Given the description of an element on the screen output the (x, y) to click on. 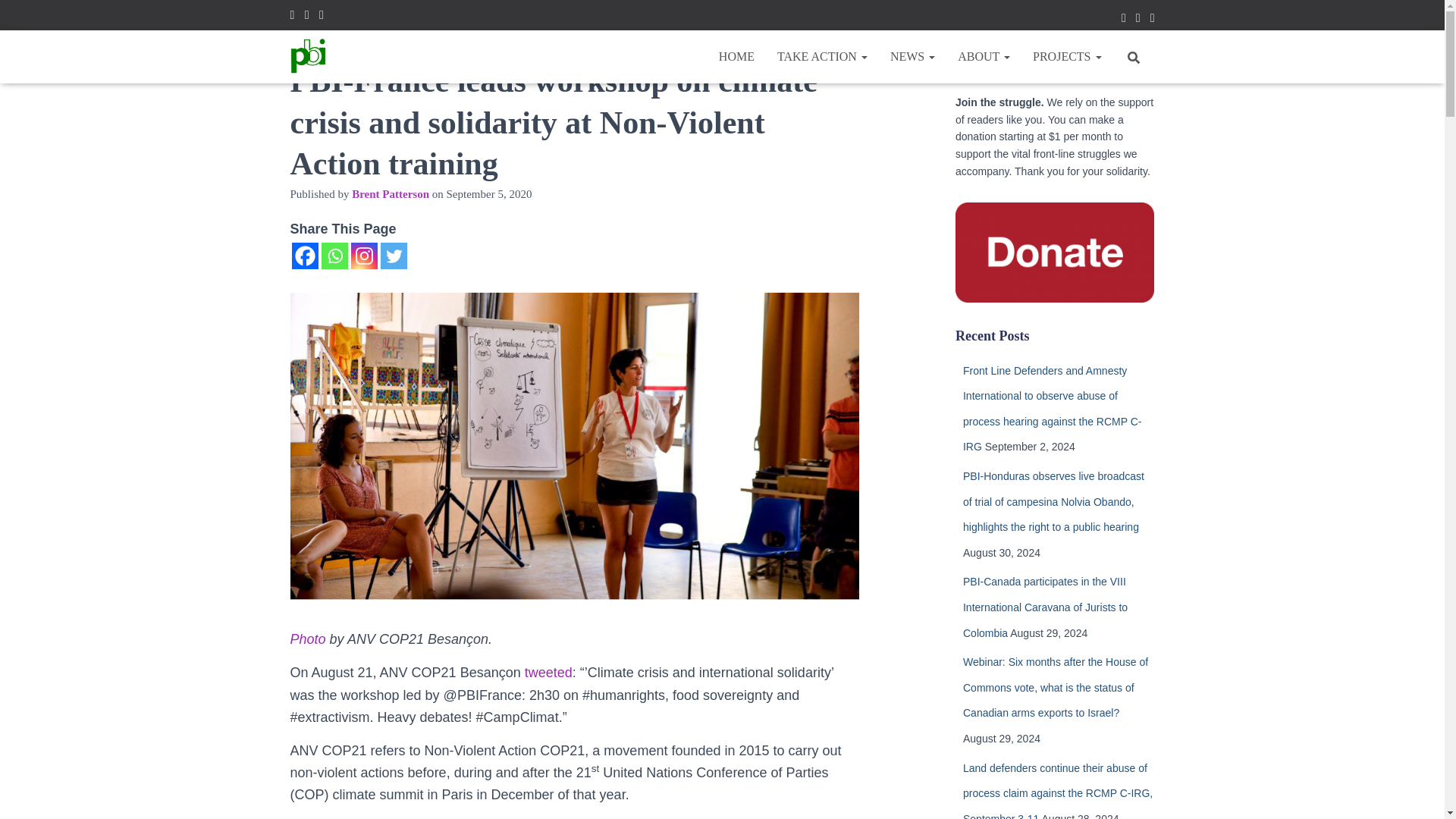
News (912, 56)
Home (736, 56)
Take Action (822, 56)
Peace Brigades International-Canada (309, 56)
ABOUT (984, 56)
PROJECTS (1067, 56)
HOME (736, 56)
TAKE ACTION (822, 56)
NEWS (912, 56)
